Given the description of an element on the screen output the (x, y) to click on. 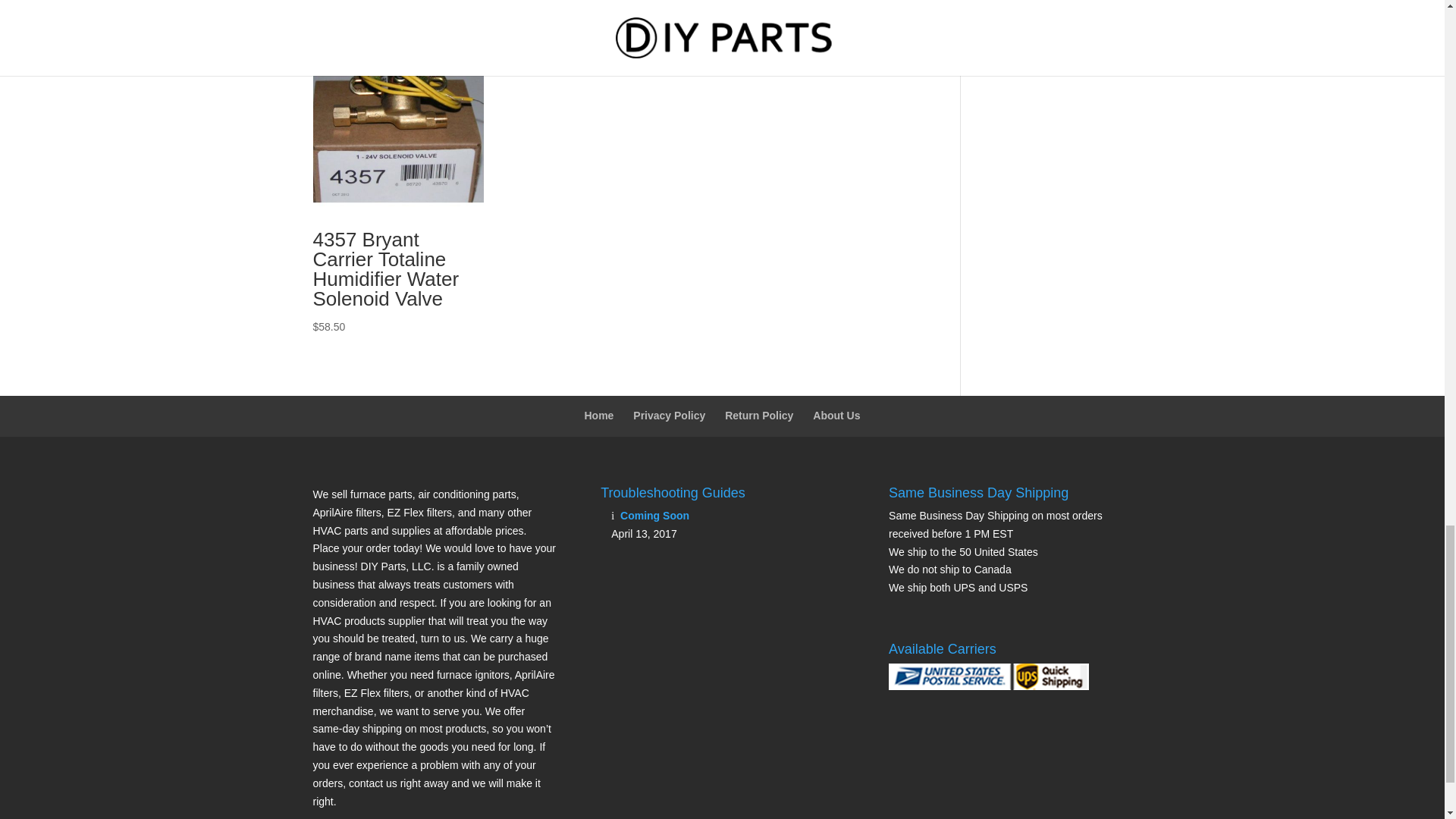
Privacy Policy (668, 415)
Return Policy (759, 415)
Home (597, 415)
